Given the description of an element on the screen output the (x, y) to click on. 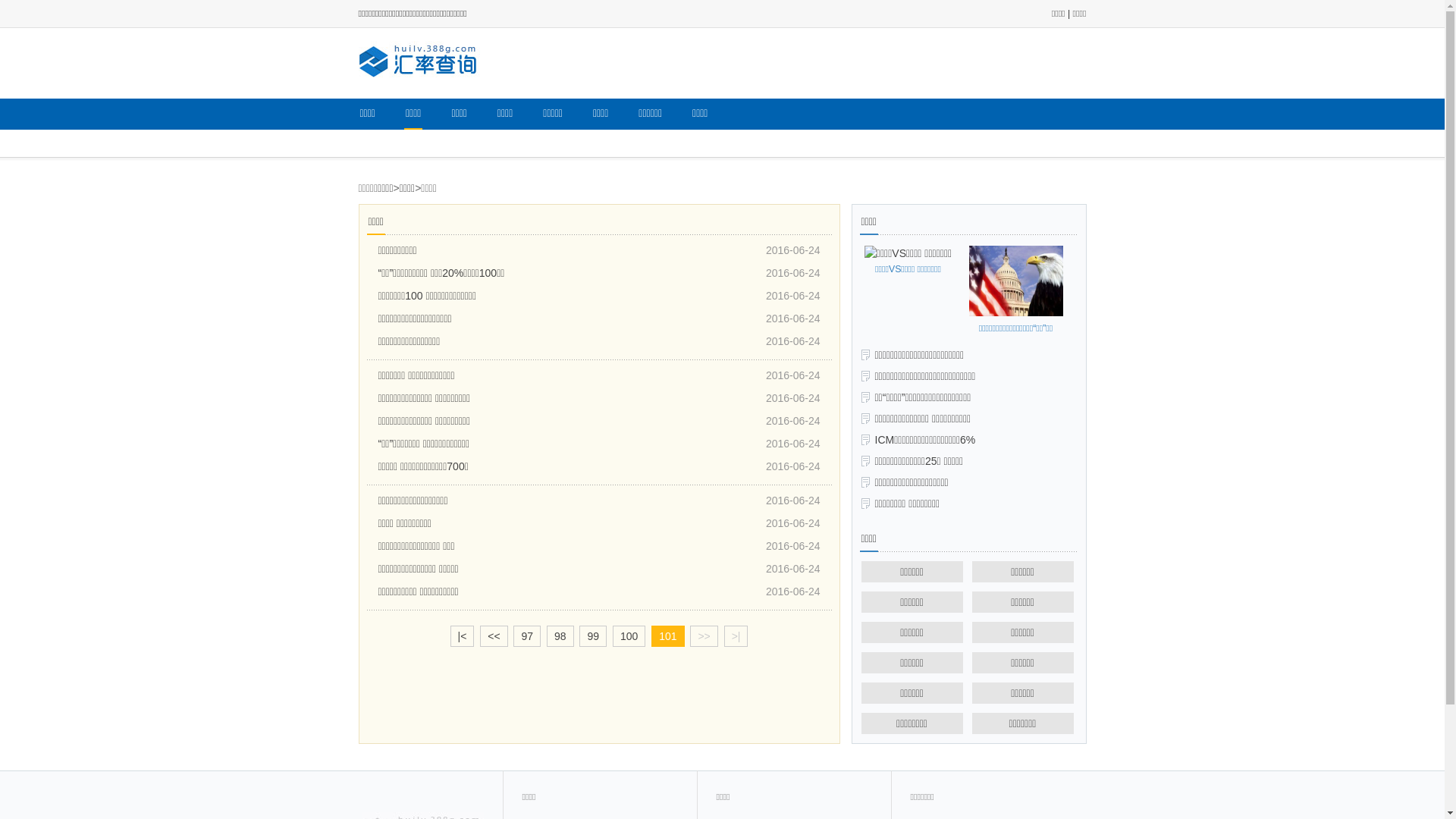
101 Element type: text (667, 635)
|< Element type: text (462, 635)
99 Element type: text (592, 635)
100 Element type: text (628, 635)
<< Element type: text (493, 635)
98 Element type: text (560, 635)
97 Element type: text (526, 635)
